Given the description of an element on the screen output the (x, y) to click on. 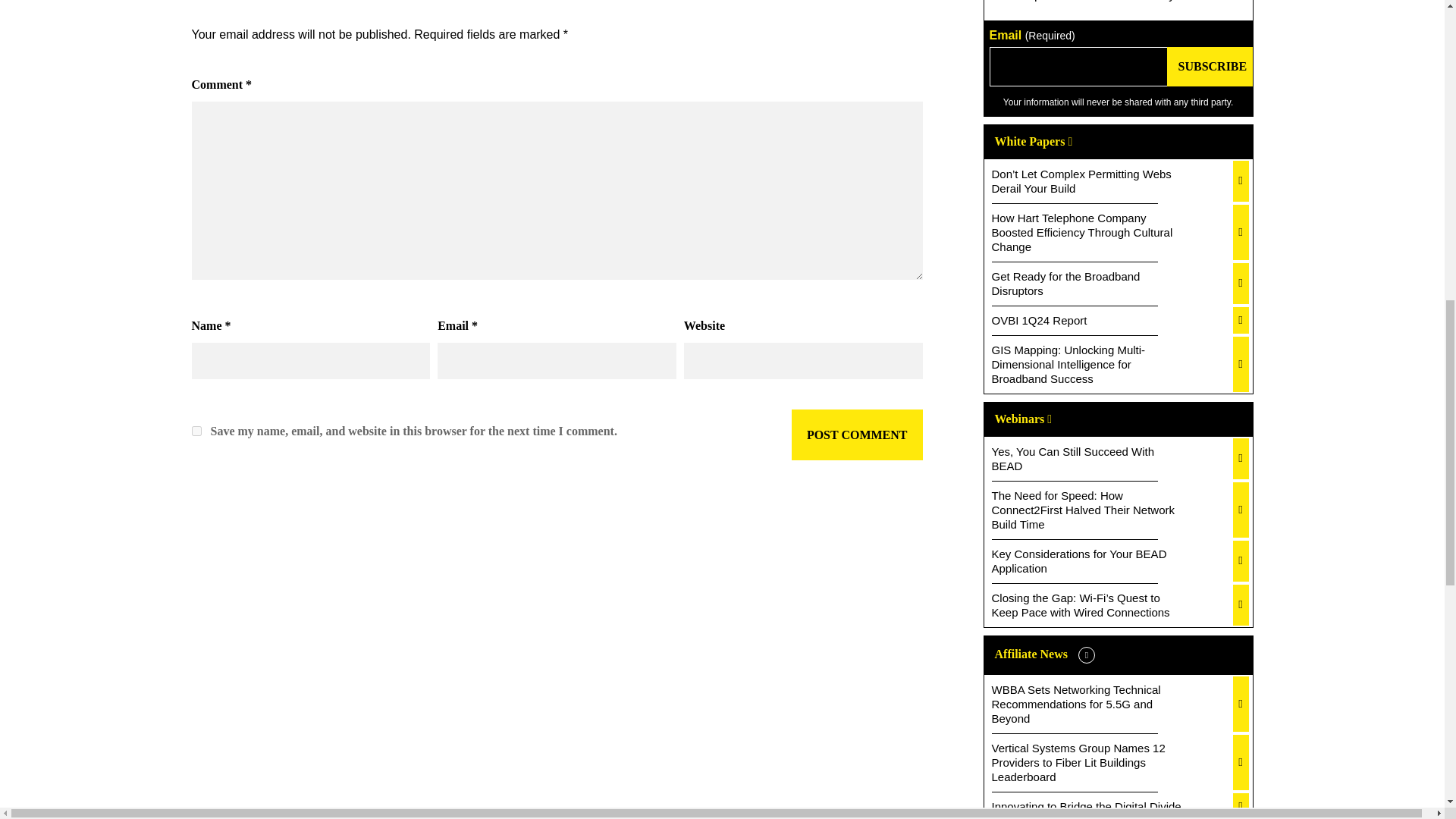
yes (195, 430)
Post Comment (857, 435)
